Given the description of an element on the screen output the (x, y) to click on. 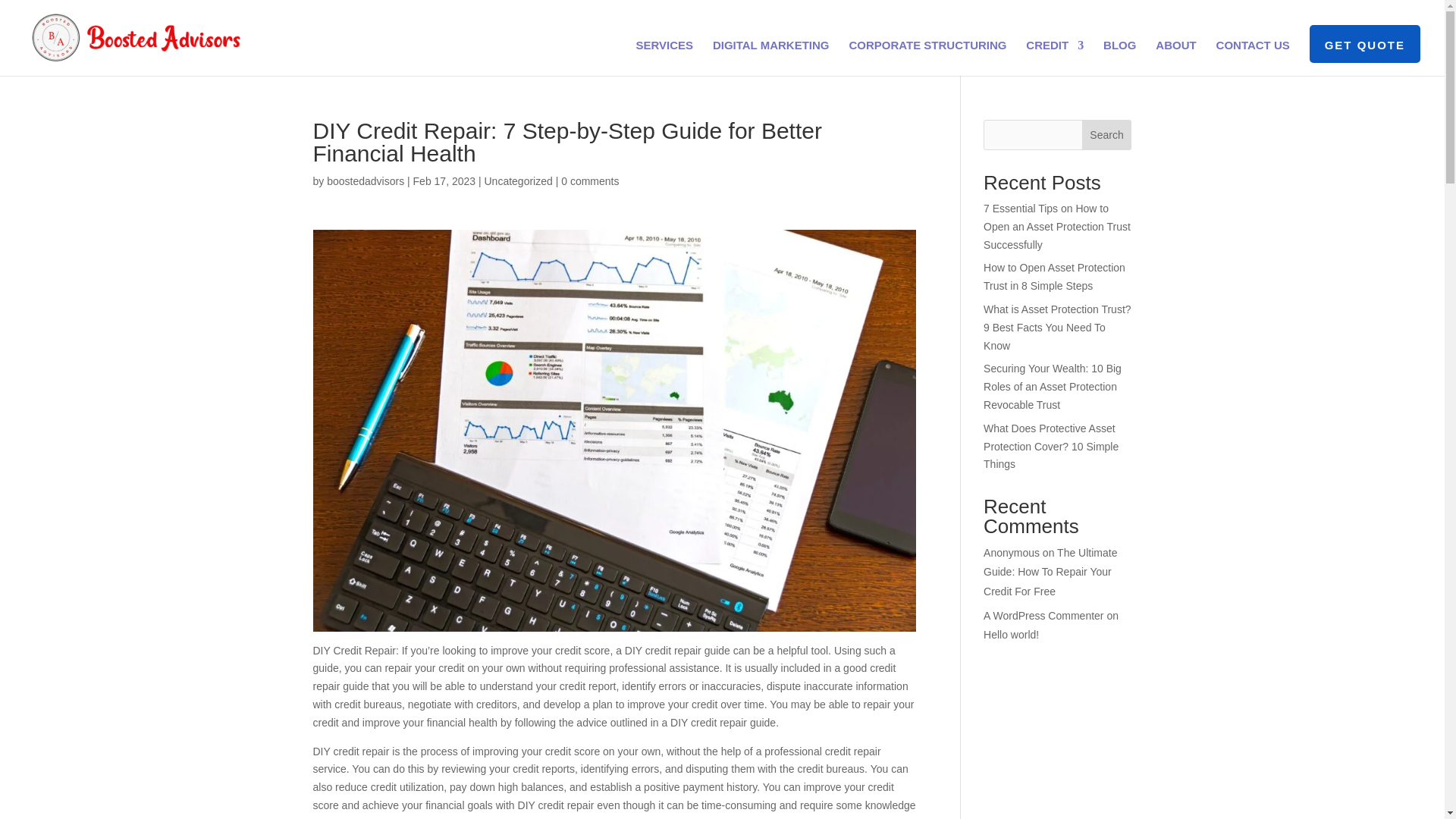
DIGITAL MARKETING (771, 58)
CONTACT US (1252, 58)
GET QUOTE (1364, 58)
CREDIT (1054, 58)
Posts by boostedadvisors (365, 181)
SERVICES (663, 58)
How to Open Asset Protection Trust in 8 Simple Steps (1054, 276)
0 comments (589, 181)
CORPORATE STRUCTURING (927, 58)
Search (1106, 134)
Uncategorized (517, 181)
BLOG (1119, 58)
ABOUT (1175, 58)
